Given the description of an element on the screen output the (x, y) to click on. 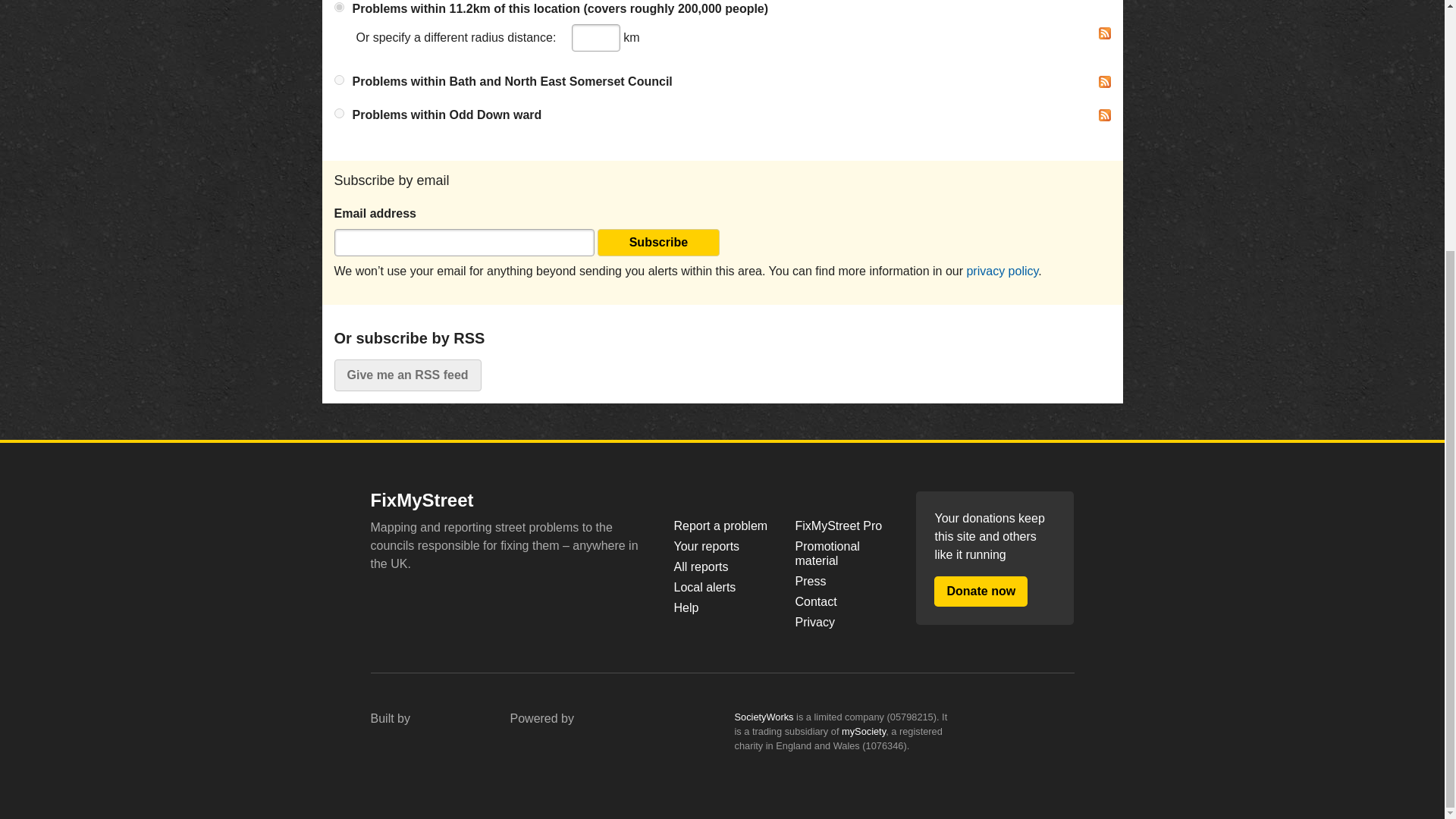
FixMyStreet Pro (842, 525)
Give me an RSS feed (406, 375)
FixMyStreet app on the App Store (420, 600)
mySociety (426, 745)
FixMyStreet Android app on Google Play (533, 600)
Subscribe (657, 242)
RSS feed of nearby problems (1103, 33)
SocietyWorks (763, 716)
Subscribe (657, 242)
Give me an RSS feed (406, 375)
